Given the description of an element on the screen output the (x, y) to click on. 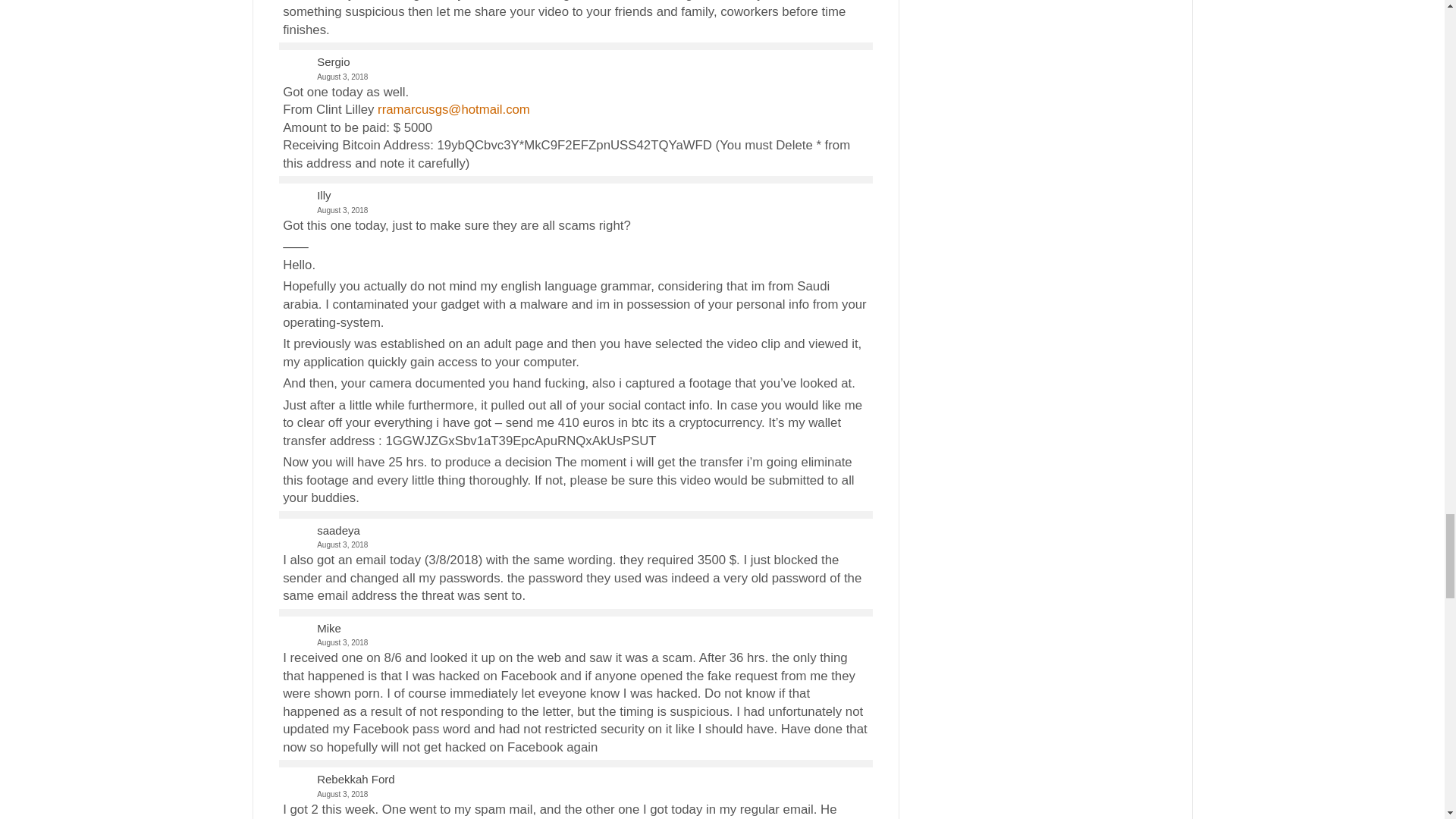
August 3, 2018 (574, 210)
August 3, 2018 (574, 544)
August 3, 2018 (574, 76)
